Given the description of an element on the screen output the (x, y) to click on. 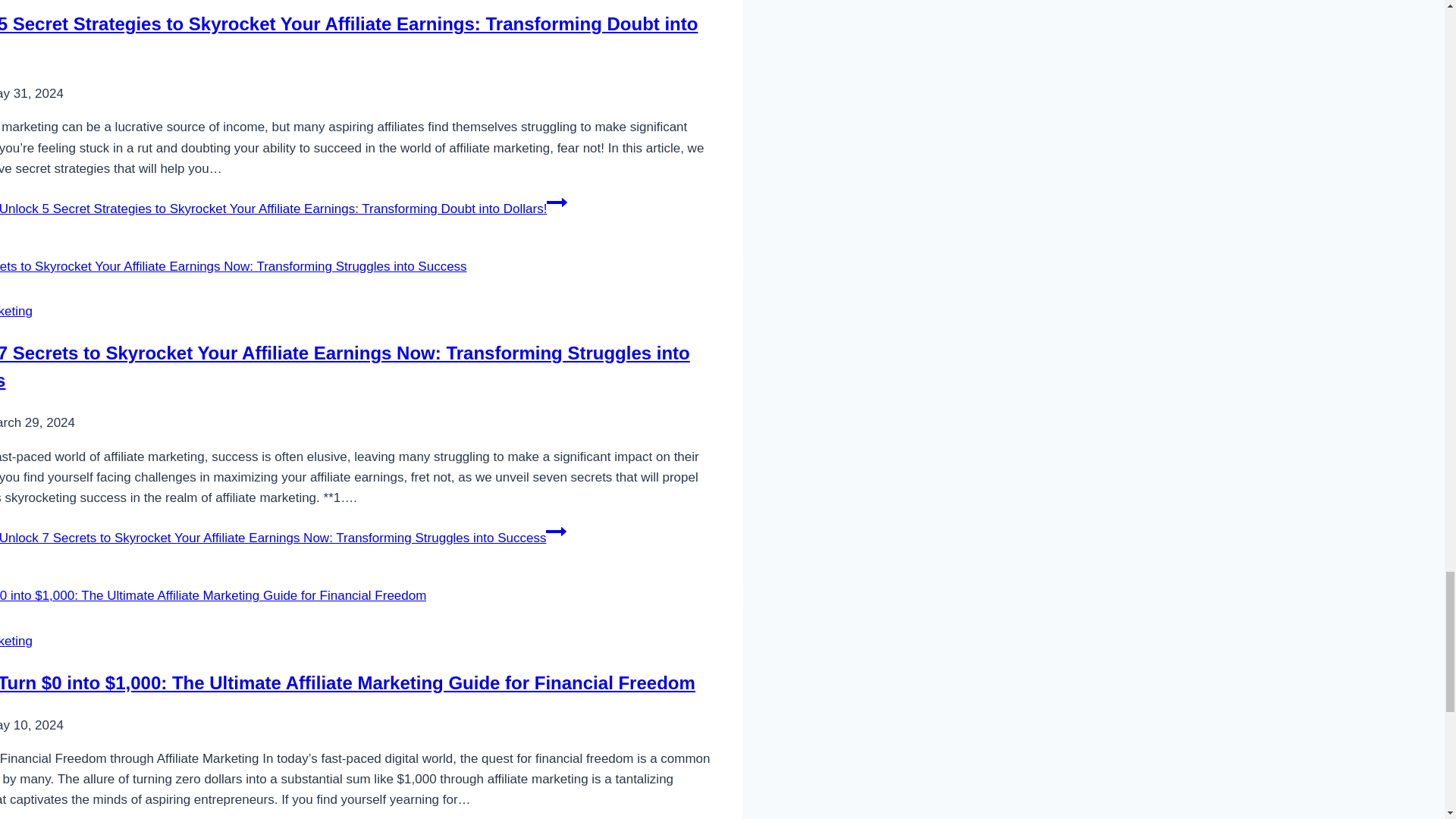
affiliate marketing (16, 310)
Continue (557, 201)
affiliate marketing (16, 640)
Continue (556, 531)
